Given the description of an element on the screen output the (x, y) to click on. 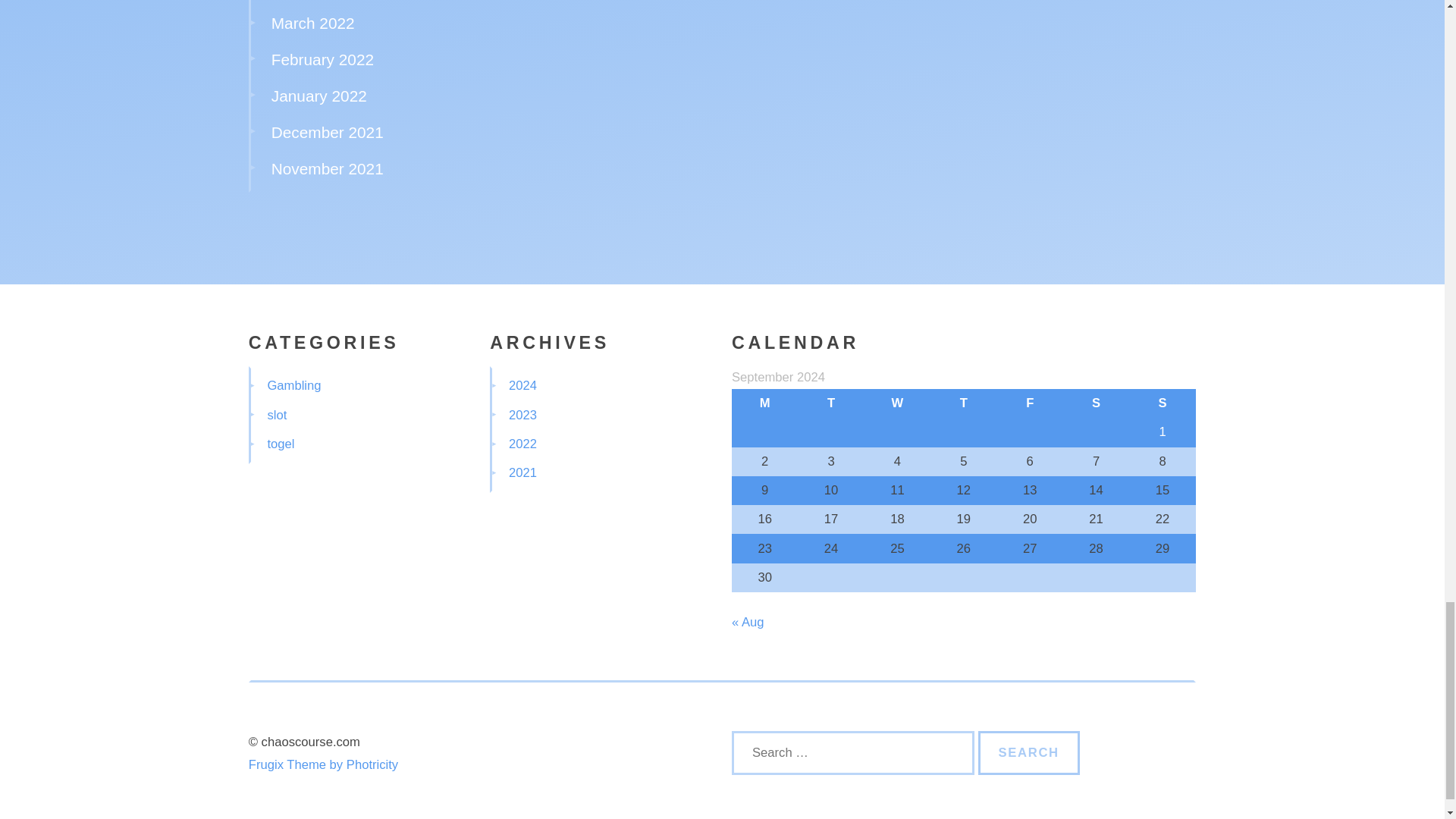
Sunday (1162, 403)
Wednesday (897, 403)
Thursday (962, 403)
Search (1029, 752)
Tuesday (830, 403)
Friday (1029, 403)
Monday (764, 403)
Saturday (1095, 403)
Search (1029, 752)
